Given the description of an element on the screen output the (x, y) to click on. 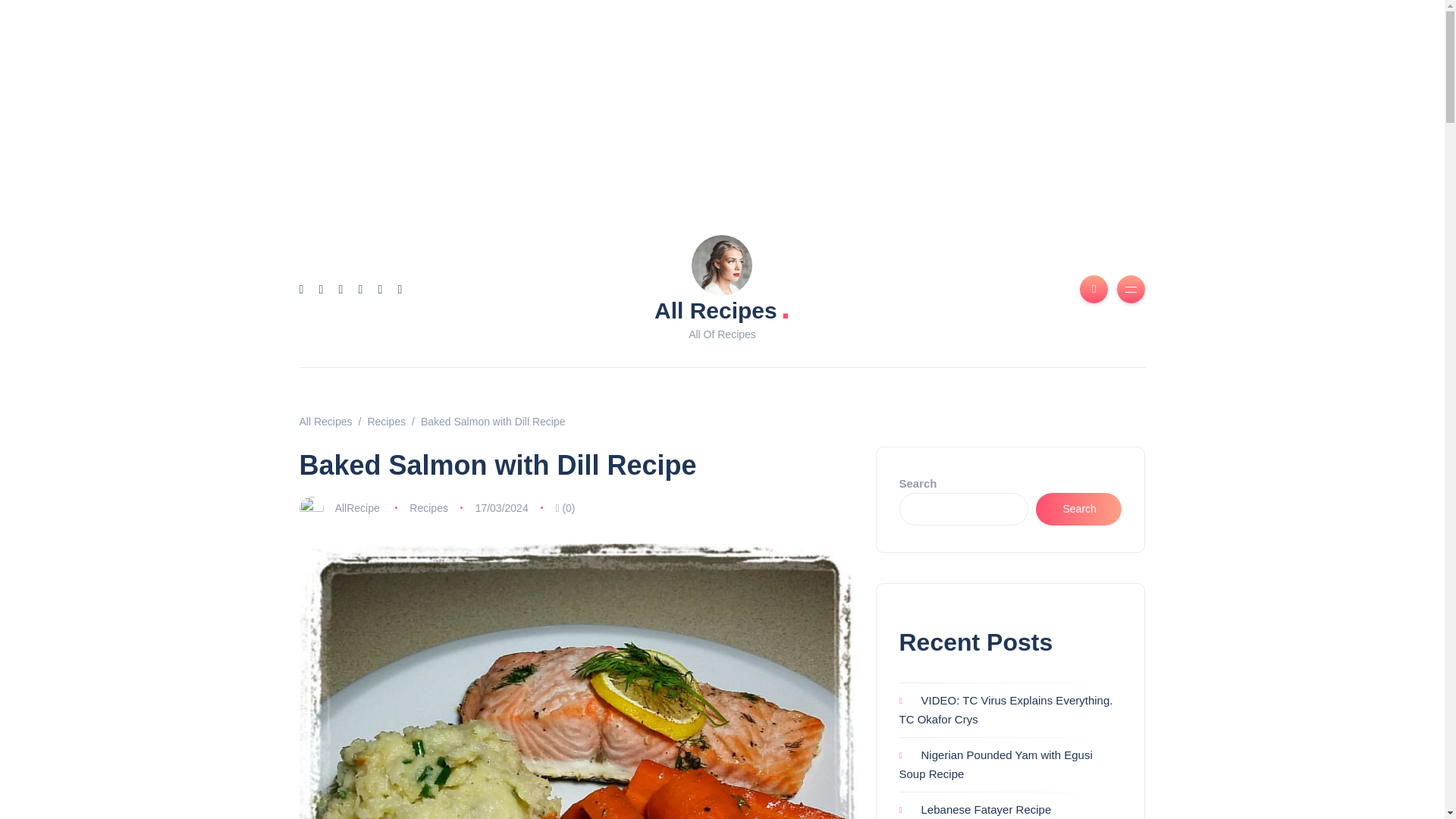
Go to All Recipes. (325, 421)
Recipes (428, 508)
Posts by AllRecipe (357, 508)
All Recipes. (721, 308)
AllRecipe (357, 508)
Recipes (386, 421)
Go to the Recipes Category archives. (386, 421)
All Recipes (325, 421)
